Given the description of an element on the screen output the (x, y) to click on. 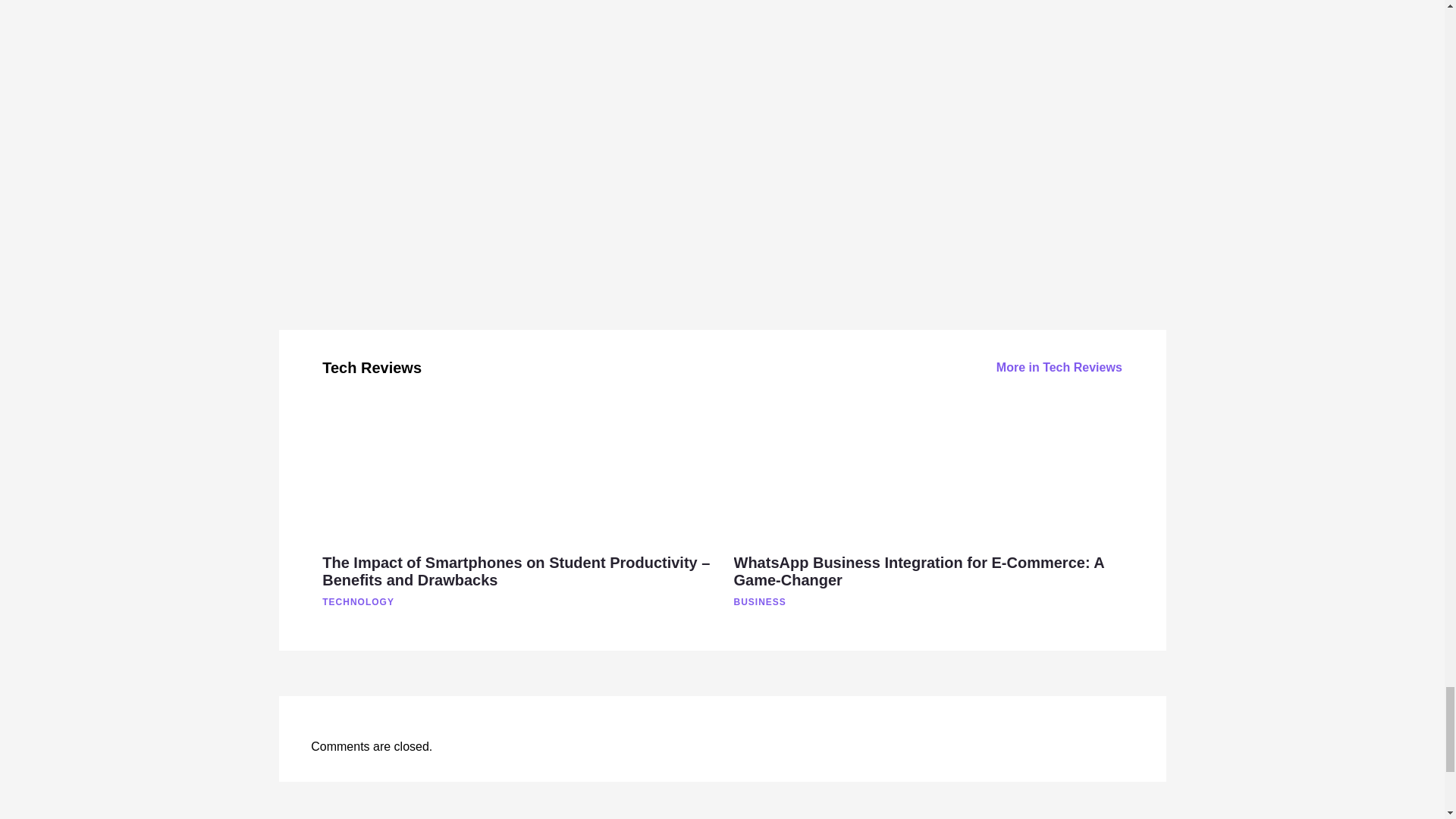
TECHNOLOGY (413, 602)
More in Tech Reviews (1058, 367)
